Given the description of an element on the screen output the (x, y) to click on. 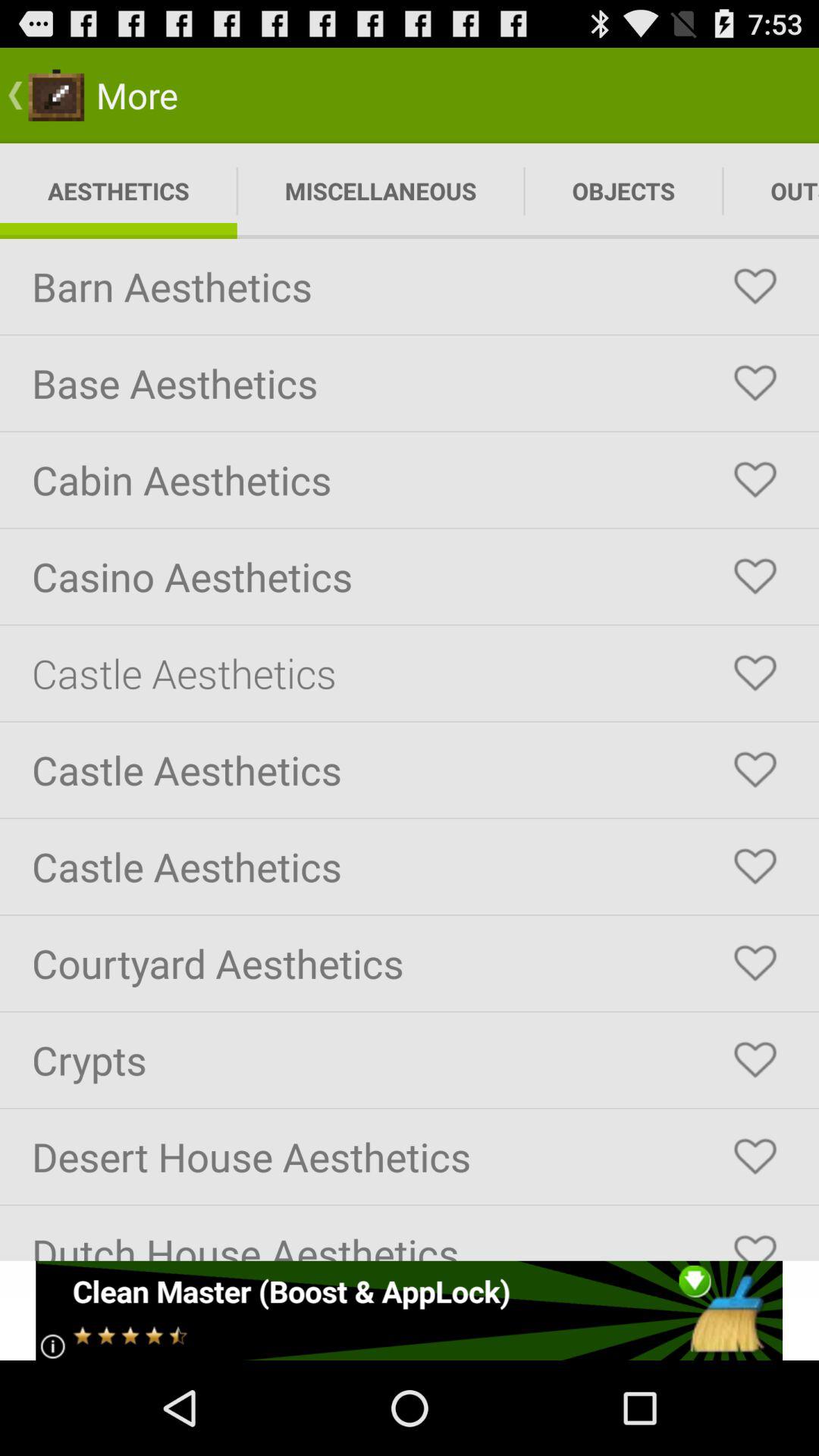
like item (755, 963)
